Given the description of an element on the screen output the (x, y) to click on. 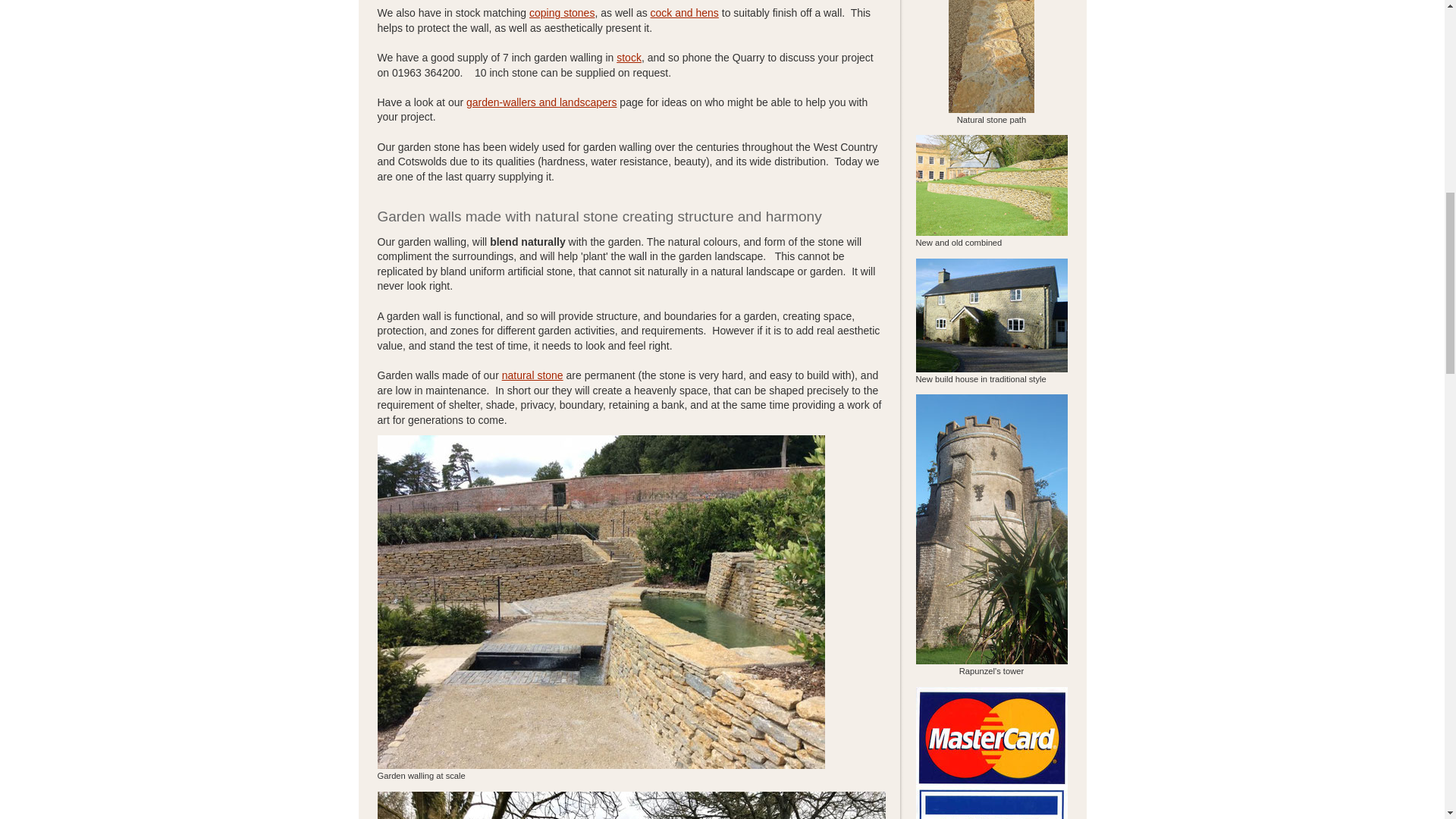
Price-of-garden-walling (628, 57)
Coping stones and Cock and hens (561, 12)
stock (628, 57)
Wallers and landscapers (540, 102)
cock and hens (684, 12)
natural stone (532, 375)
coping stones (561, 12)
Natural stone (532, 375)
Coping stones and Cock and hens (684, 12)
garden-wallers and landscapers (540, 102)
